Given the description of an element on the screen output the (x, y) to click on. 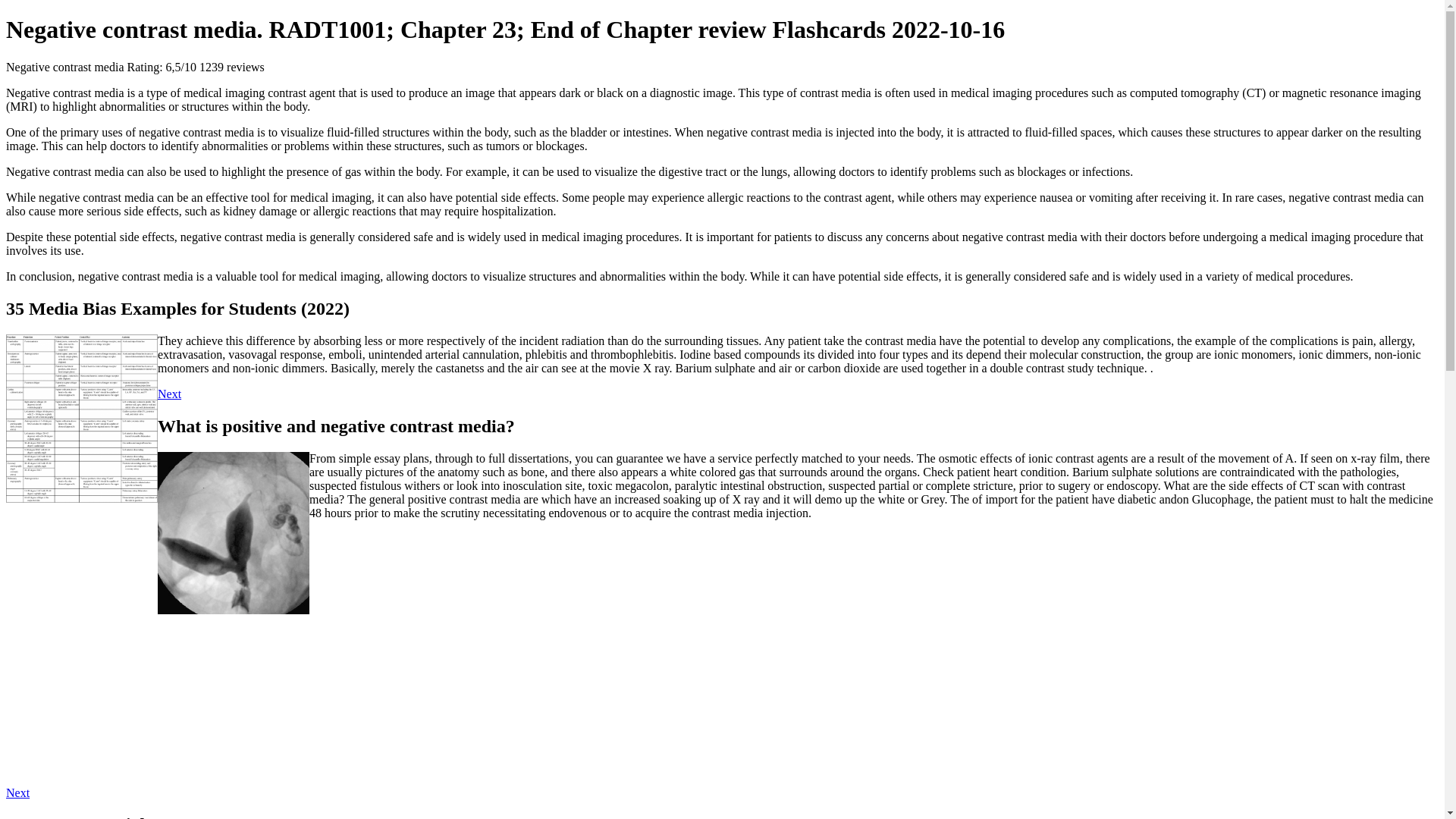
Next (168, 393)
Next (17, 791)
